Given the description of an element on the screen output the (x, y) to click on. 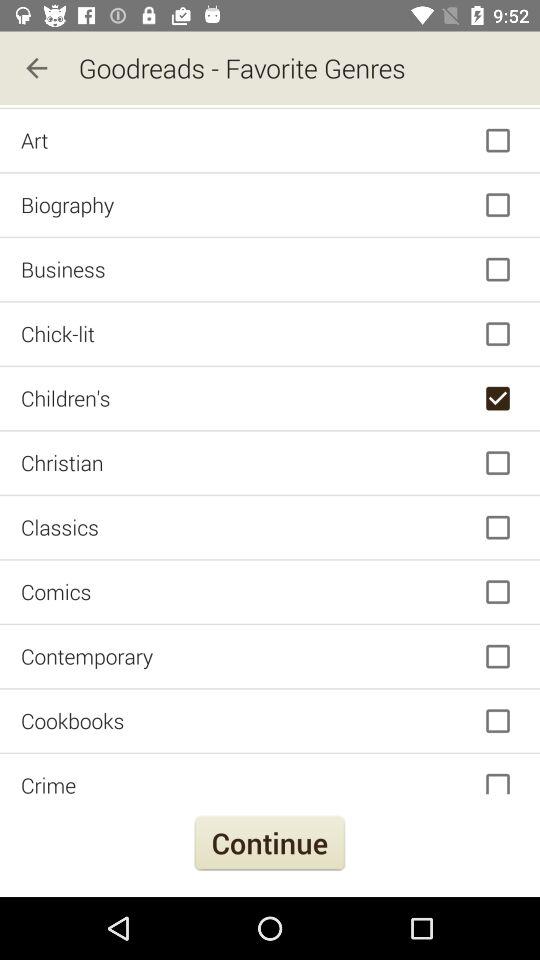
select children's icon (270, 398)
